Given the description of an element on the screen output the (x, y) to click on. 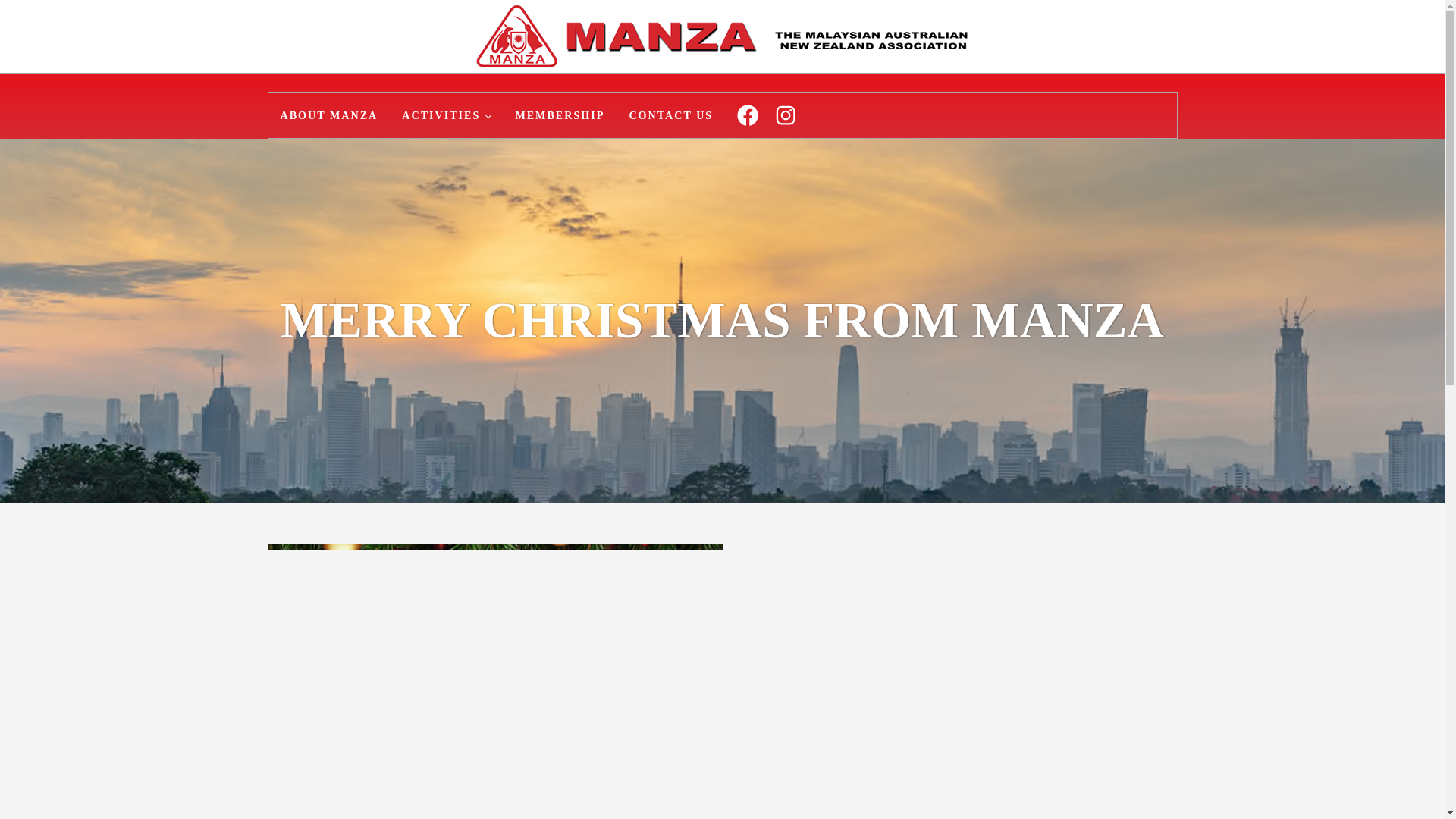
MEMBERSHIP (558, 115)
CONTACT US (670, 115)
ACTIVITIES (446, 115)
ABOUT MANZA (328, 115)
